Given the description of an element on the screen output the (x, y) to click on. 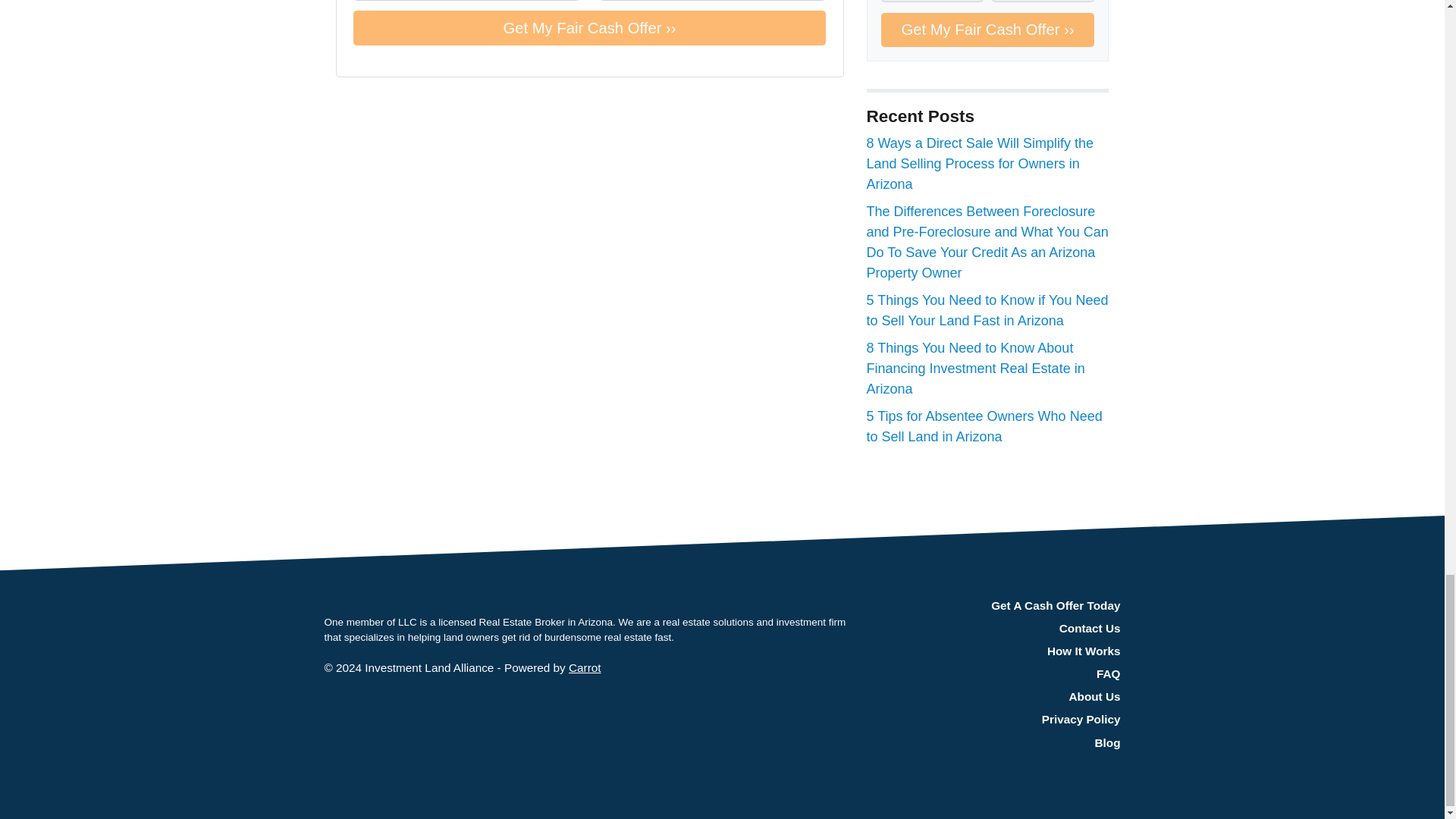
5 Tips for Absentee Owners Who Need to Sell Land in Arizona (984, 426)
Get A Cash Offer Today (995, 605)
How It Works (995, 650)
Contact Us (995, 628)
